Given the description of an element on the screen output the (x, y) to click on. 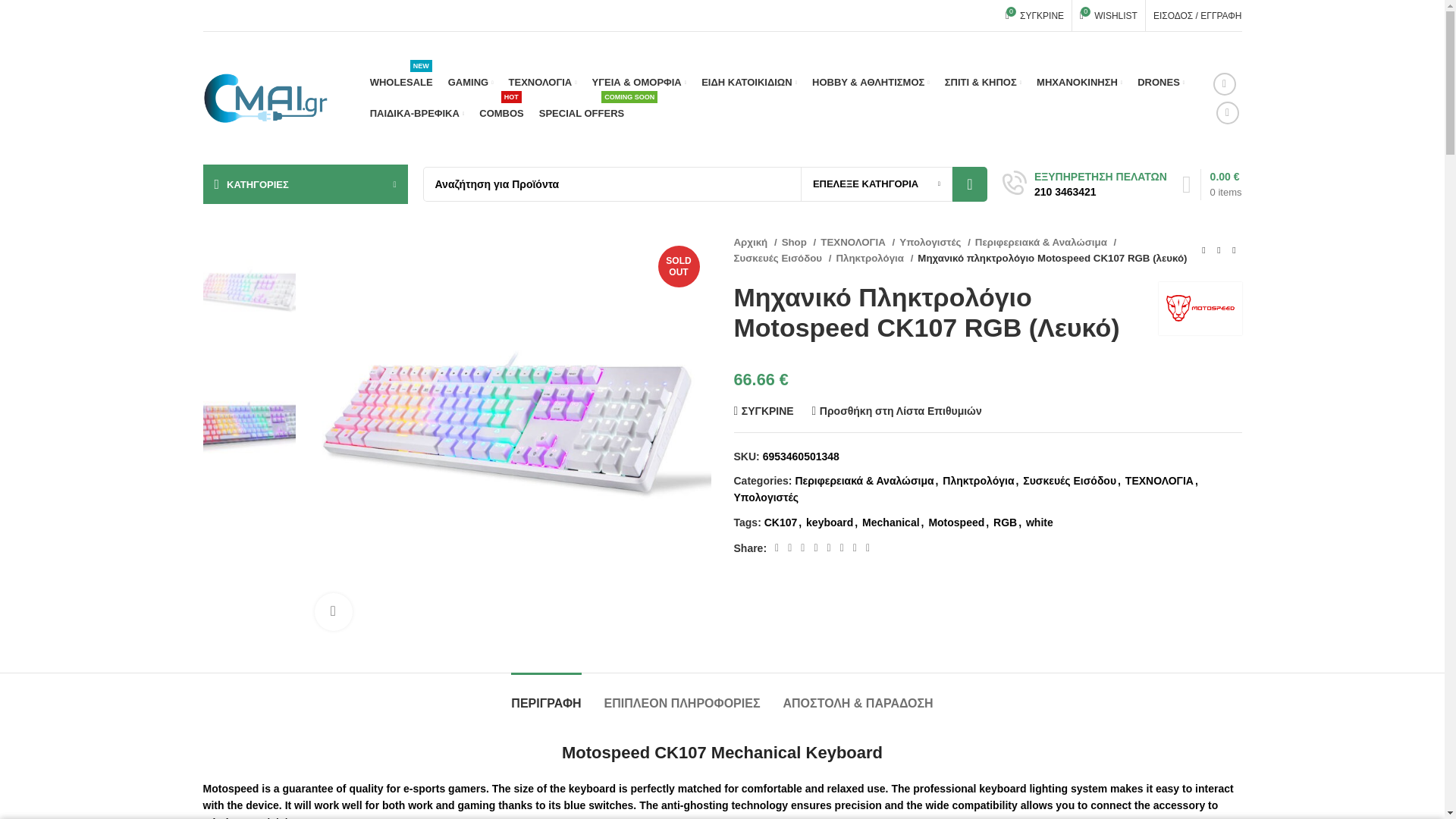
My Wishlist (1107, 15)
Compare products (1034, 15)
GAMING (470, 82)
MOTOSPEED (400, 82)
My account (1200, 307)
